Given the description of an element on the screen output the (x, y) to click on. 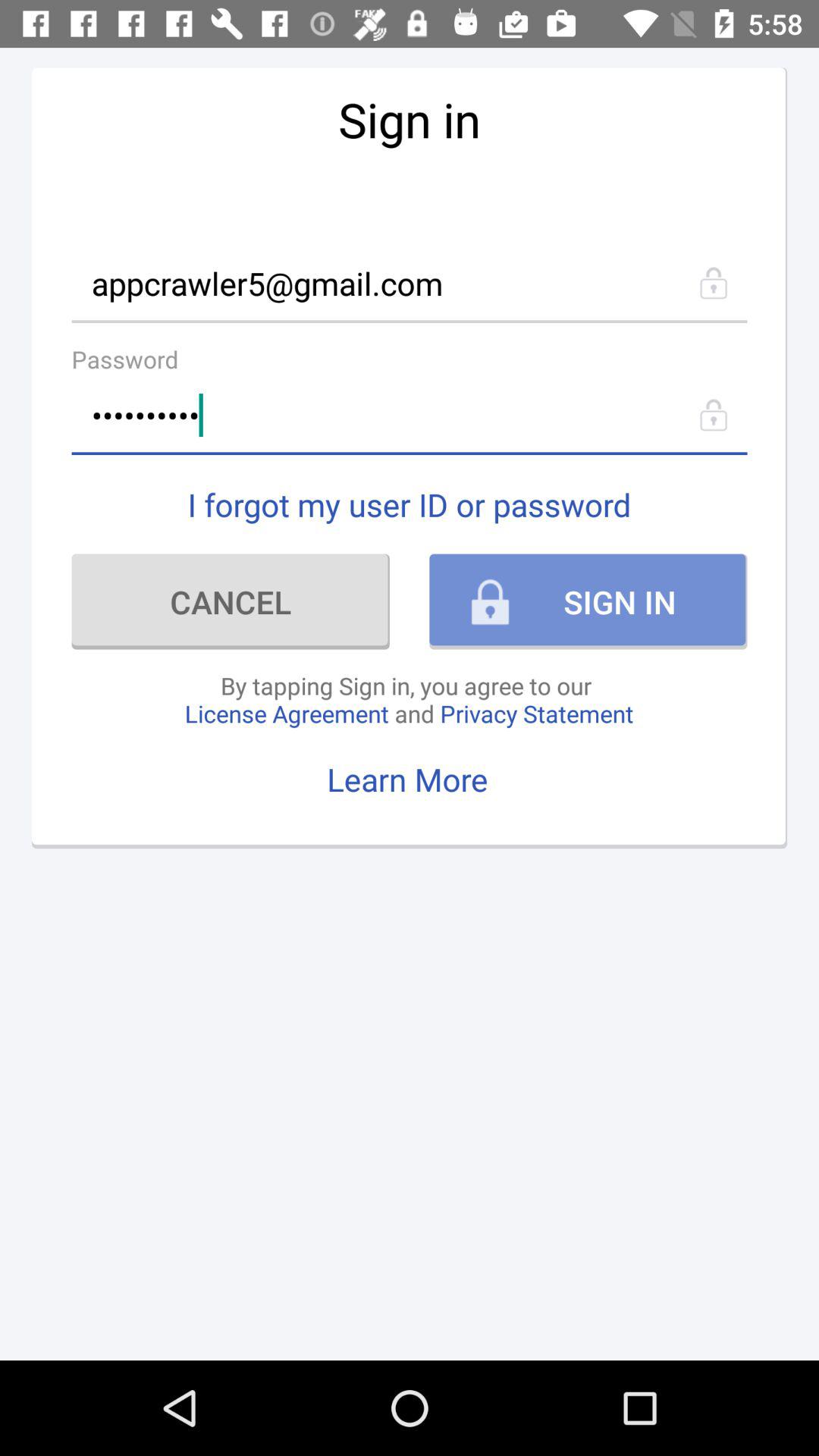
launch crowd3116# item (409, 415)
